Given the description of an element on the screen output the (x, y) to click on. 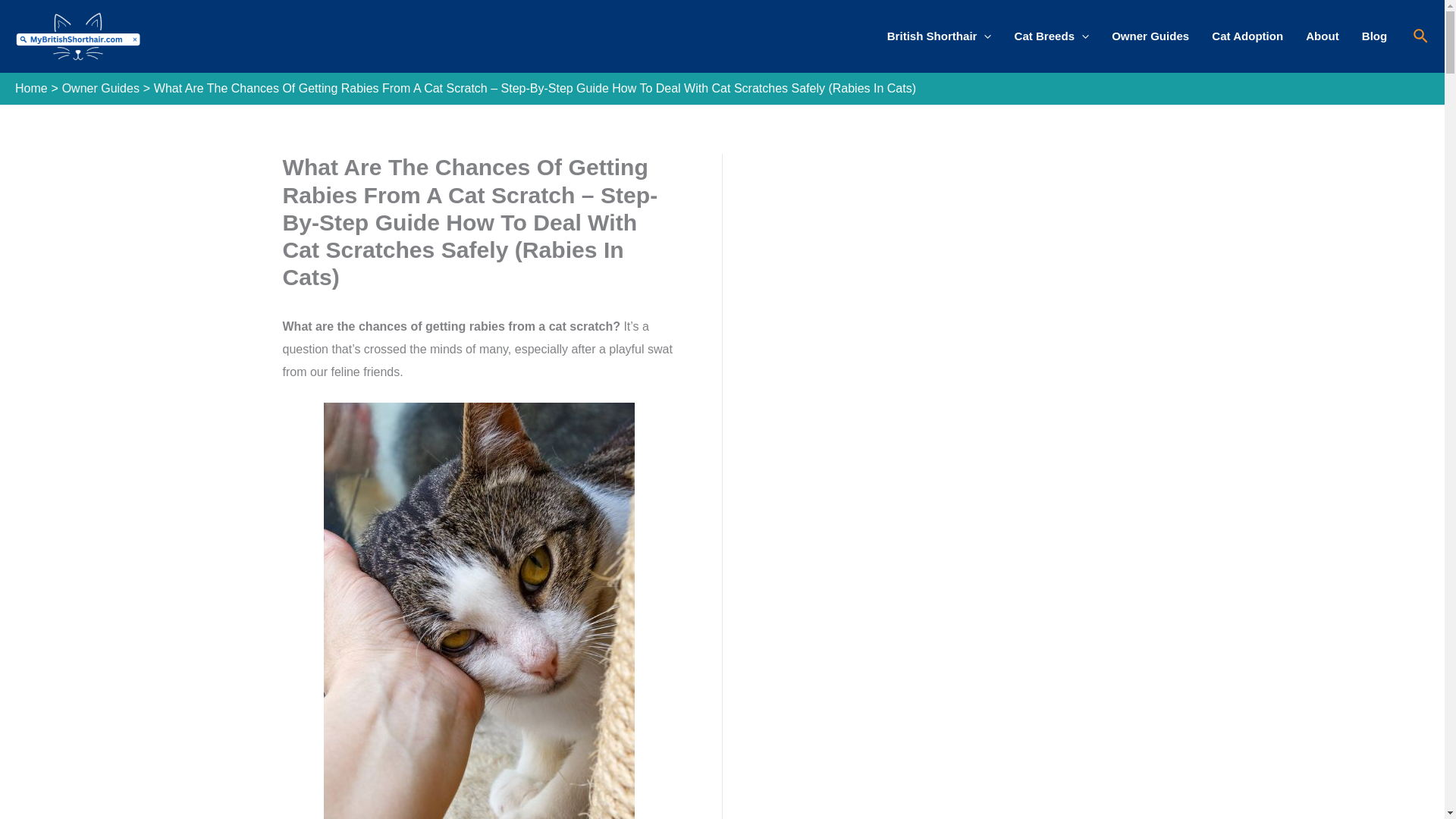
About (1322, 36)
Owner Guides (1149, 36)
Cat Breeds (1051, 36)
British Shorthair (939, 36)
Blog (1375, 36)
Cat Adoption (1246, 36)
